Given the description of an element on the screen output the (x, y) to click on. 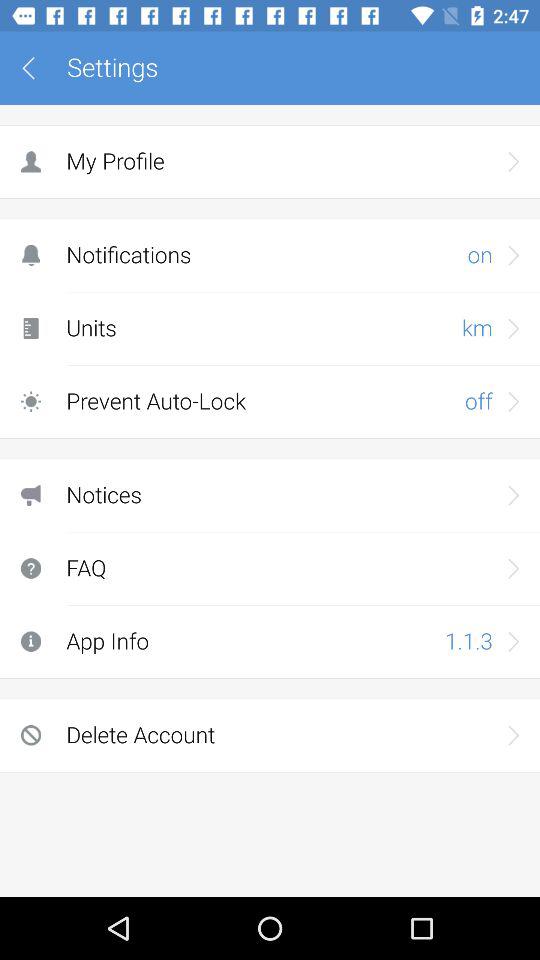
press to go back to previous menu (35, 67)
